Given the description of an element on the screen output the (x, y) to click on. 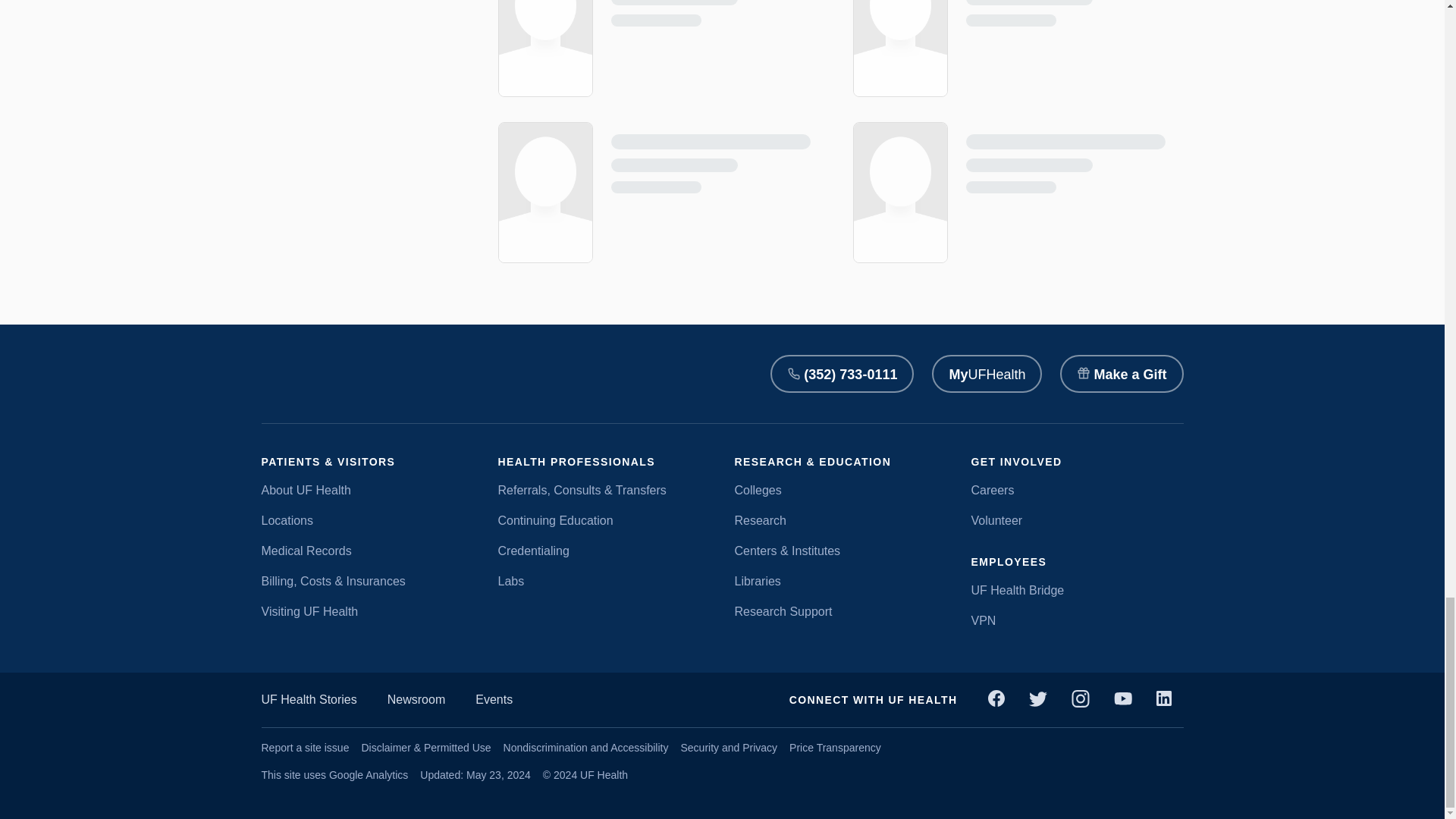
Careers (1076, 490)
Locations (366, 520)
Labs (603, 581)
Research (839, 520)
Colleges (839, 490)
About UF Health (366, 490)
Continuing Education (603, 520)
Make a Gift (1120, 373)
Research Support (839, 611)
University of Florida Health (310, 373)
